Given the description of an element on the screen output the (x, y) to click on. 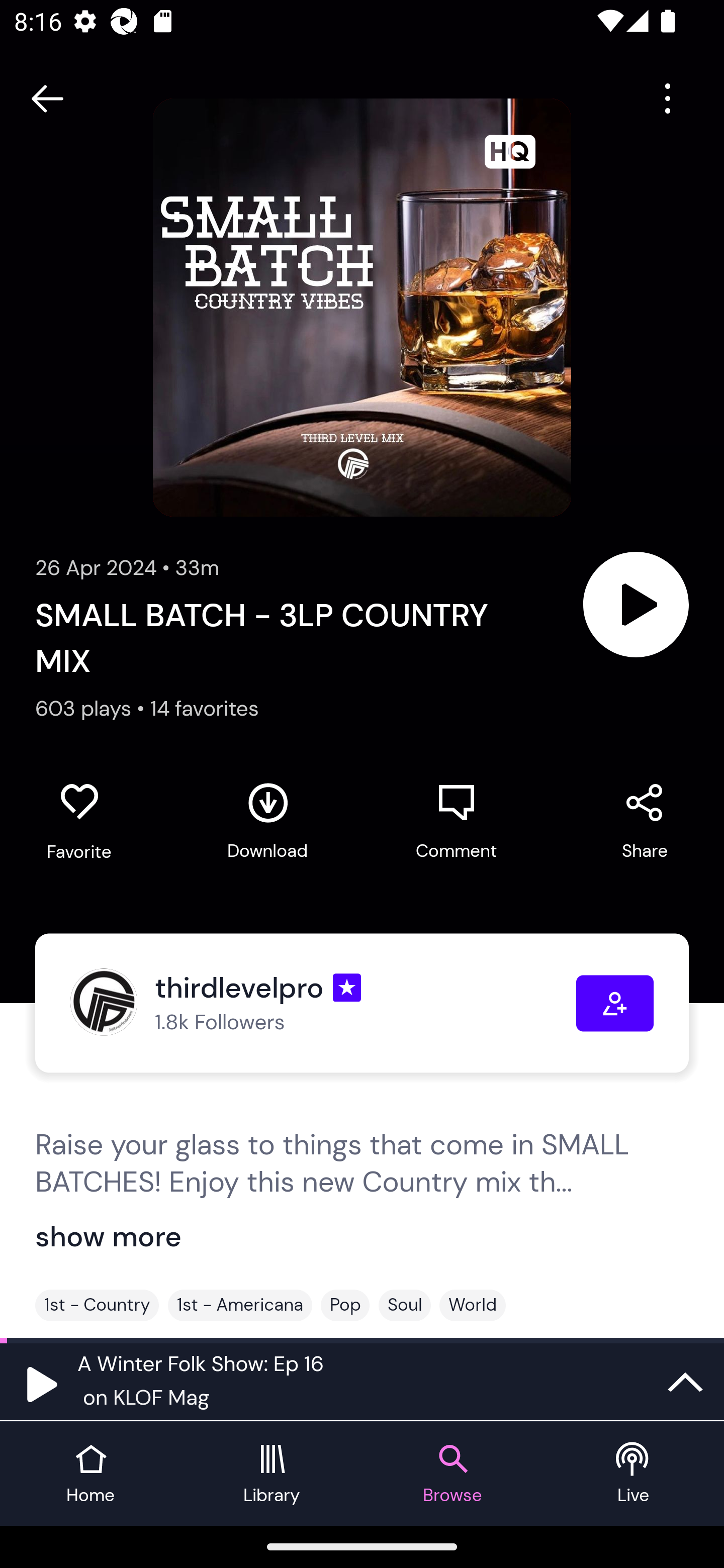
14 favorites (204, 708)
Favorite (79, 821)
Download (267, 821)
Comment (455, 821)
Share (644, 821)
Follow (614, 1003)
1st - Country (96, 1304)
1st - Americana (239, 1304)
Pop (344, 1304)
Soul (404, 1304)
World (472, 1304)
Home tab Home (90, 1473)
Library tab Library (271, 1473)
Browse tab Browse (452, 1473)
Live tab Live (633, 1473)
